Given the description of an element on the screen output the (x, y) to click on. 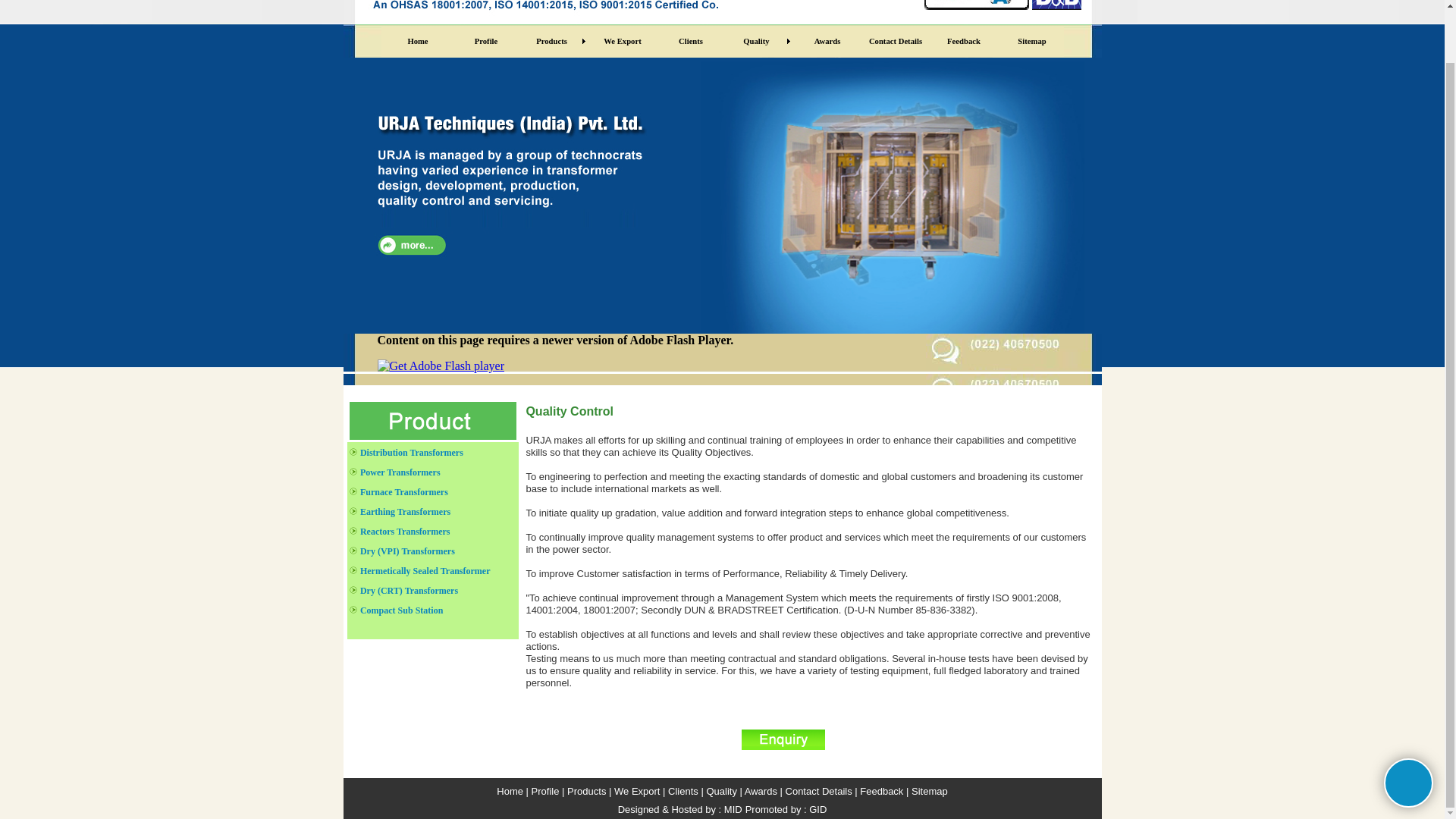
We Expor (636, 790)
Clients (687, 41)
Furnace Transformers (403, 491)
Home (414, 41)
Profile (482, 41)
We Export (619, 41)
Contact Details (892, 41)
Hermetically Sealed Transformer (424, 570)
Quality (756, 41)
Profile (546, 790)
